Given the description of an element on the screen output the (x, y) to click on. 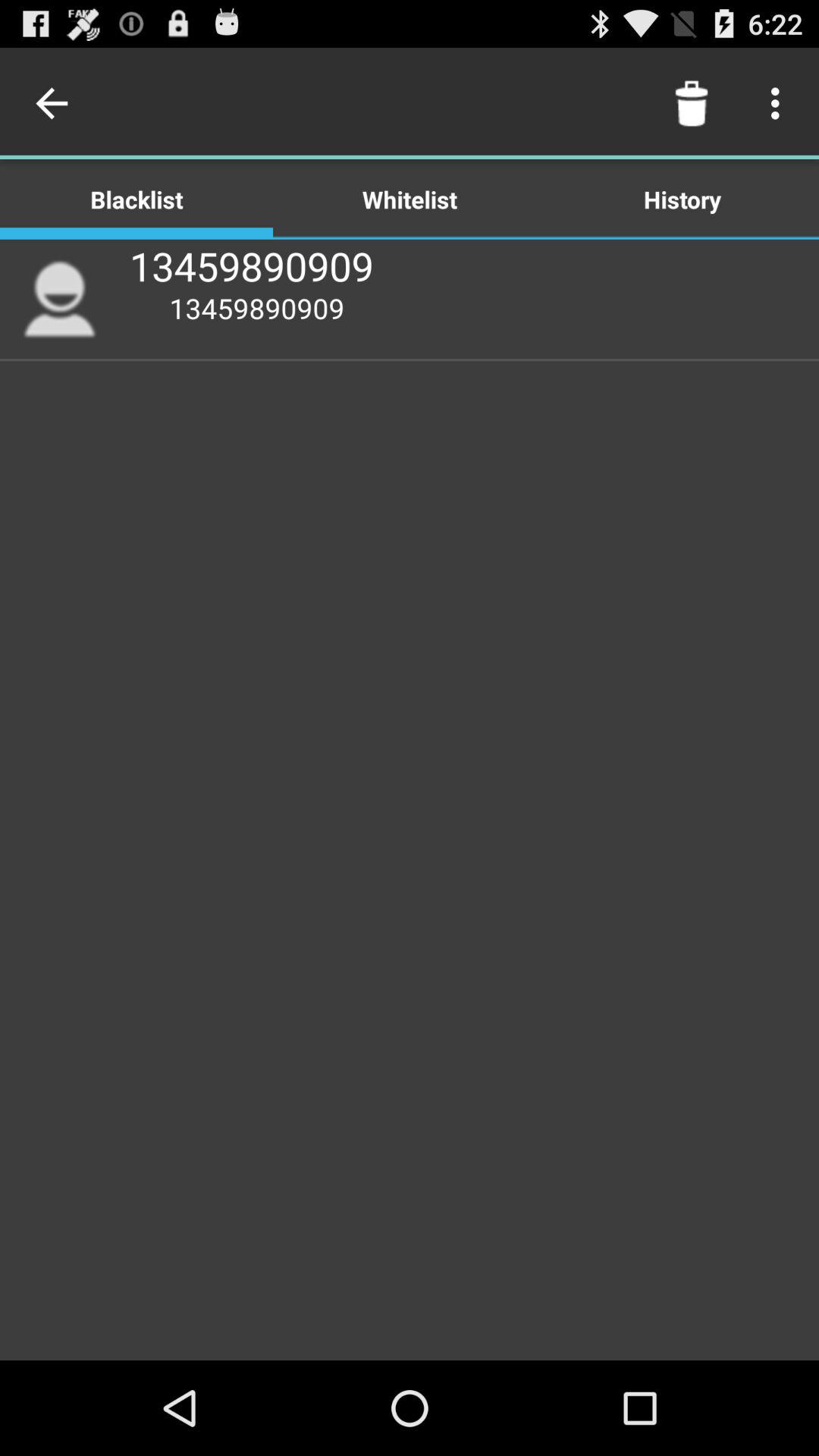
turn off whitelist at the top (409, 199)
